Given the description of an element on the screen output the (x, y) to click on. 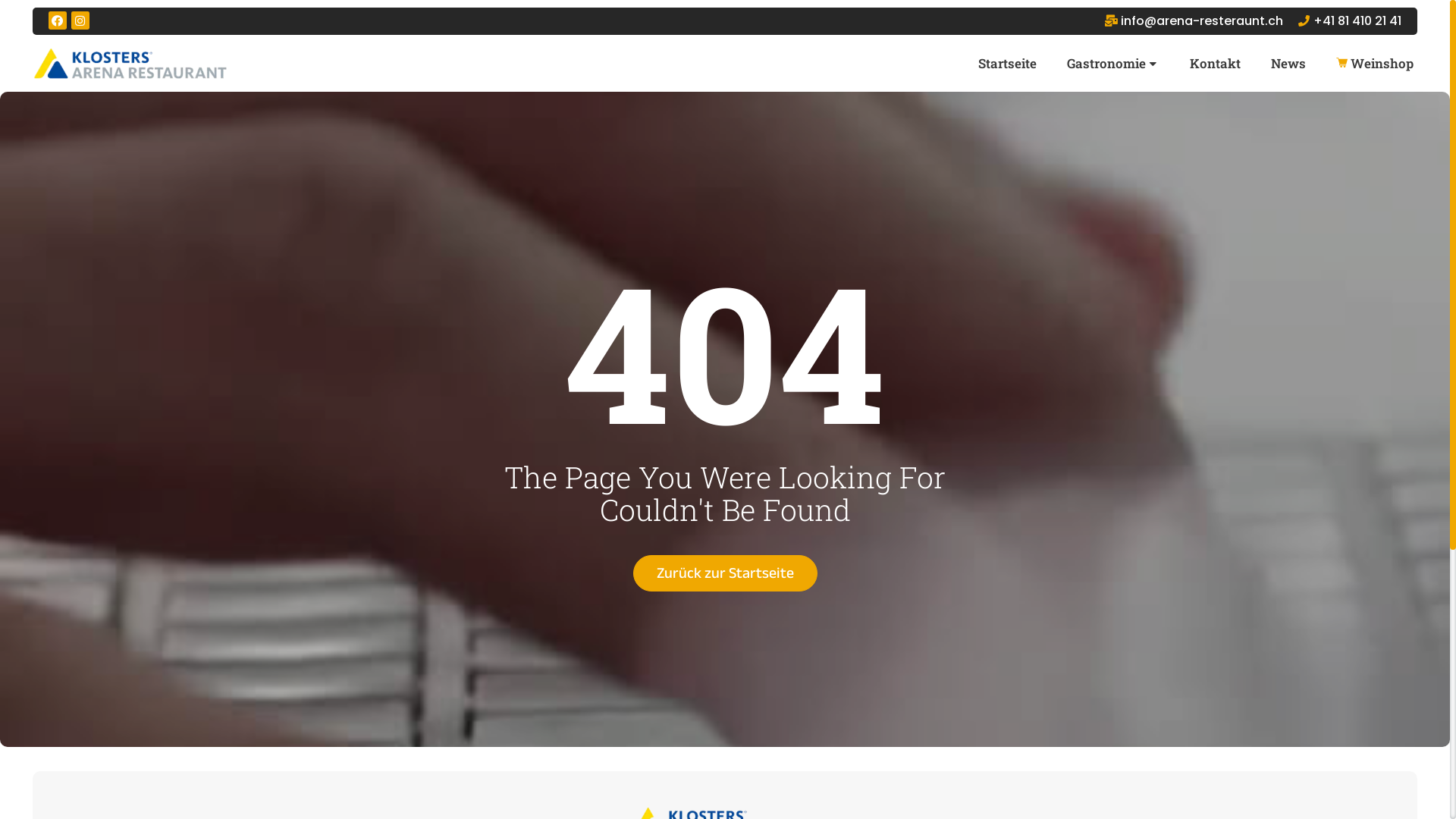
Kontakt Element type: text (1215, 63)
News Element type: text (1288, 63)
Gastronomie Element type: text (1113, 63)
Startseite Element type: text (1007, 63)
Weinshop Element type: text (1374, 63)
